Given the description of an element on the screen output the (x, y) to click on. 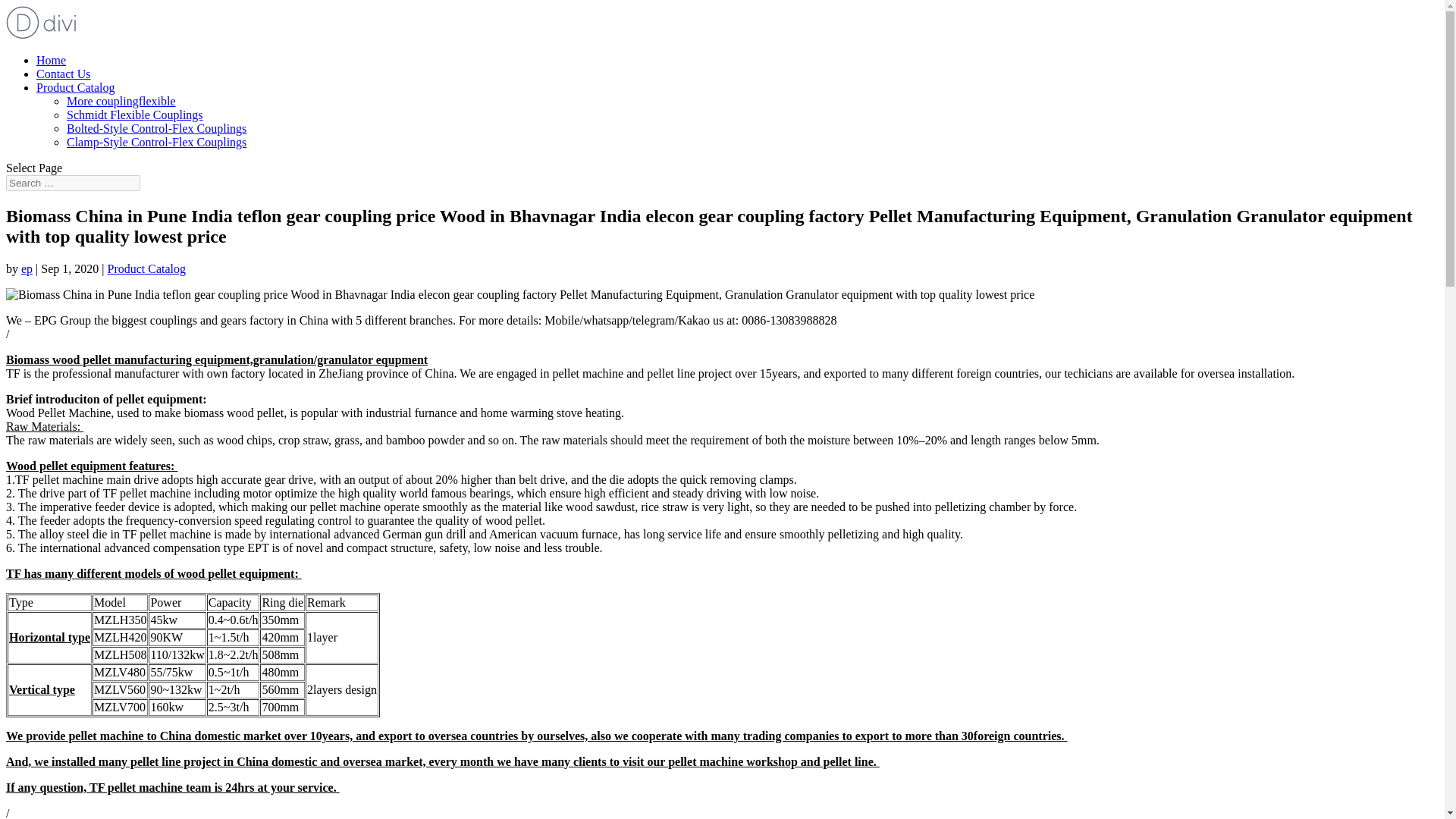
Bolted-Style Control-Flex Couplings (156, 128)
Contact Us (63, 73)
Schmidt Flexible Couplings (134, 114)
Search for: (72, 182)
Home (50, 60)
Product Catalog (146, 268)
More couplingflexible (121, 101)
Clamp-Style Control-Flex Couplings (156, 141)
Product Catalog (75, 87)
